Given the description of an element on the screen output the (x, y) to click on. 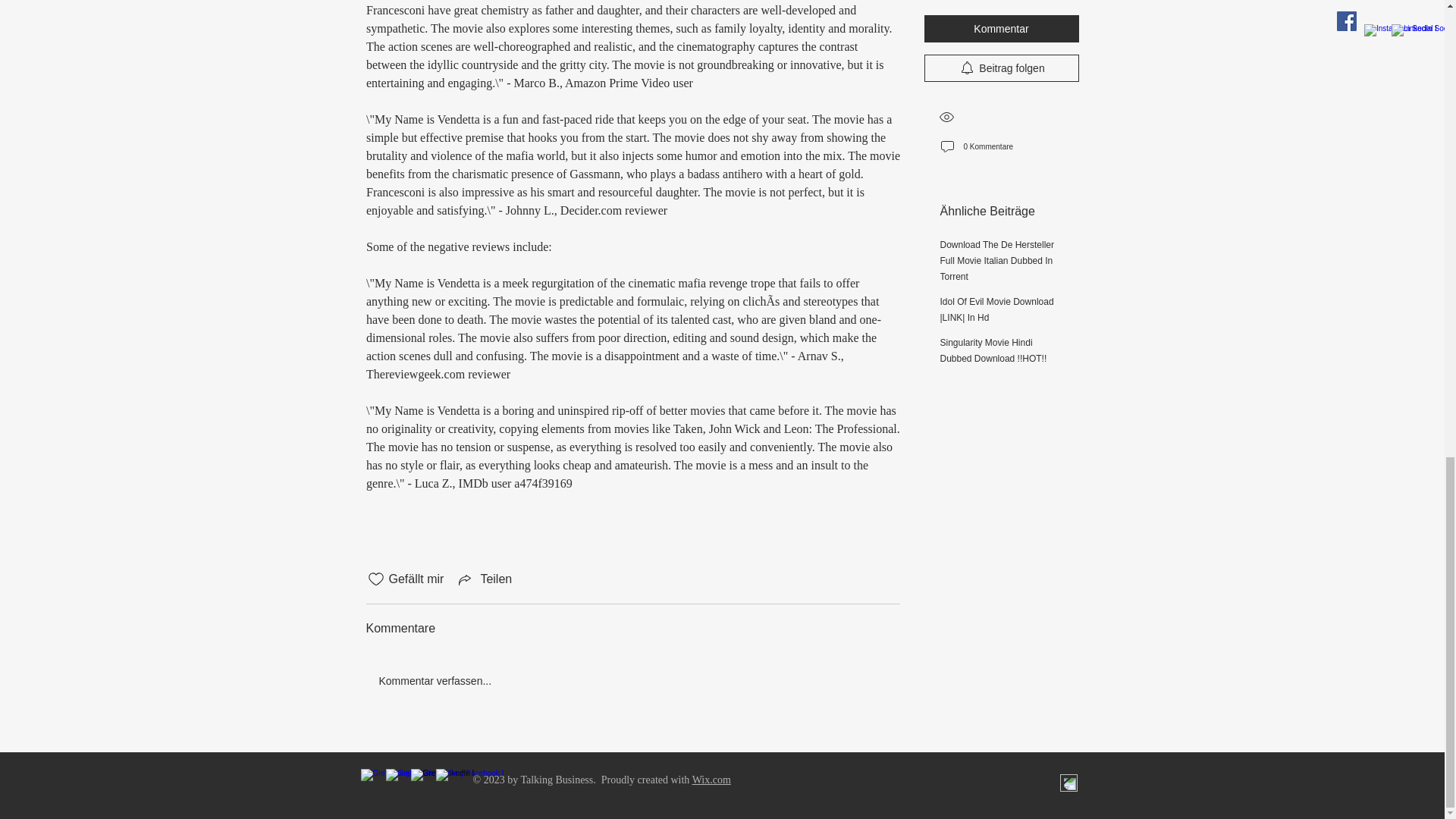
Kommentar verfassen... (632, 680)
Wix.com (711, 779)
Teilen (483, 579)
